Given the description of an element on the screen output the (x, y) to click on. 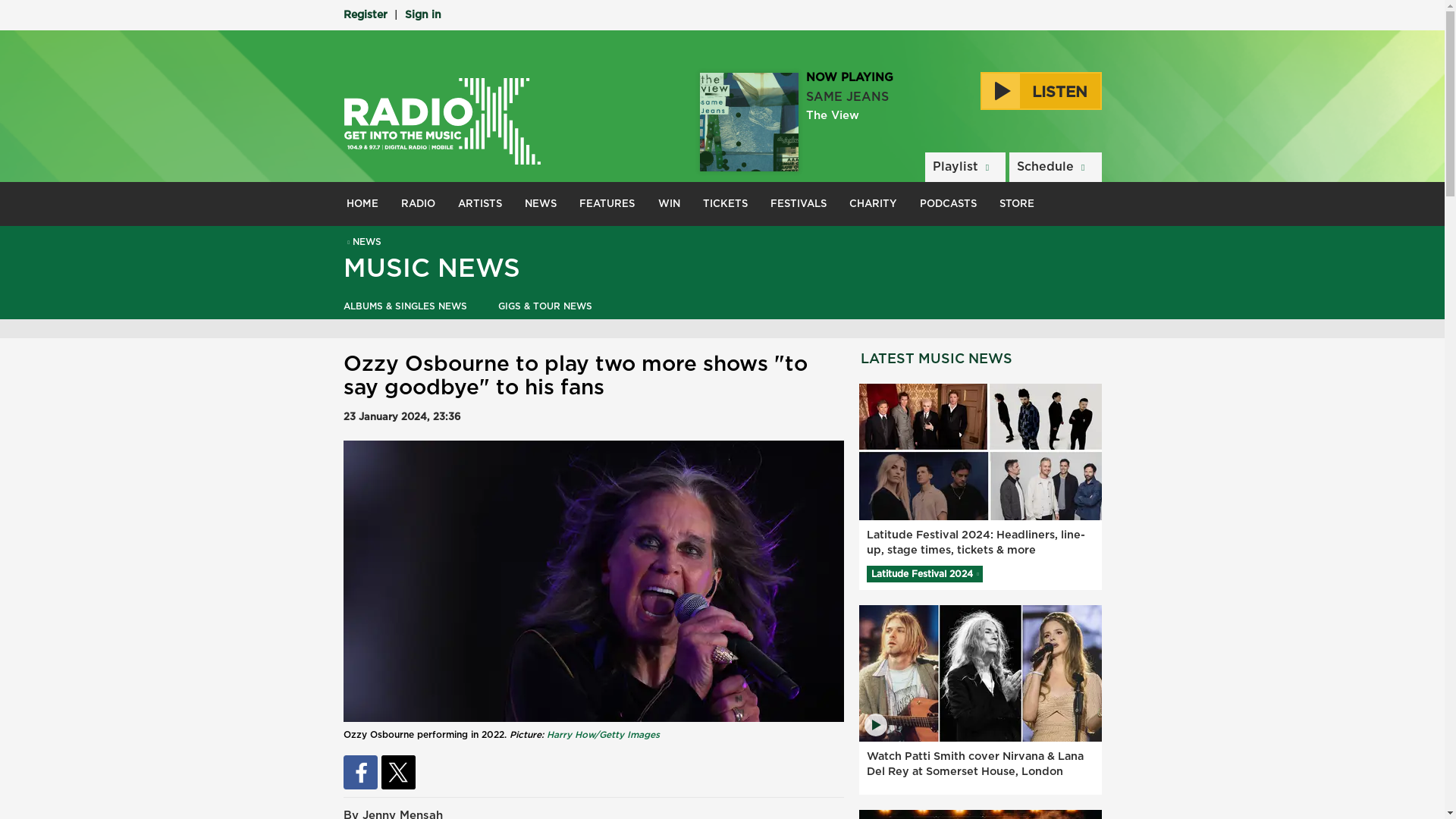
CHARITY (873, 203)
TICKETS (724, 203)
Radio X (441, 120)
Sign in (422, 14)
FESTIVALS (798, 203)
Schedule (1054, 166)
Register (364, 14)
WIN (668, 203)
FEATURES (606, 203)
NEWS (361, 241)
HOME (362, 203)
Playlist (965, 166)
PODCASTS (948, 203)
STORE (1016, 203)
NEWS (540, 203)
